Given the description of an element on the screen output the (x, y) to click on. 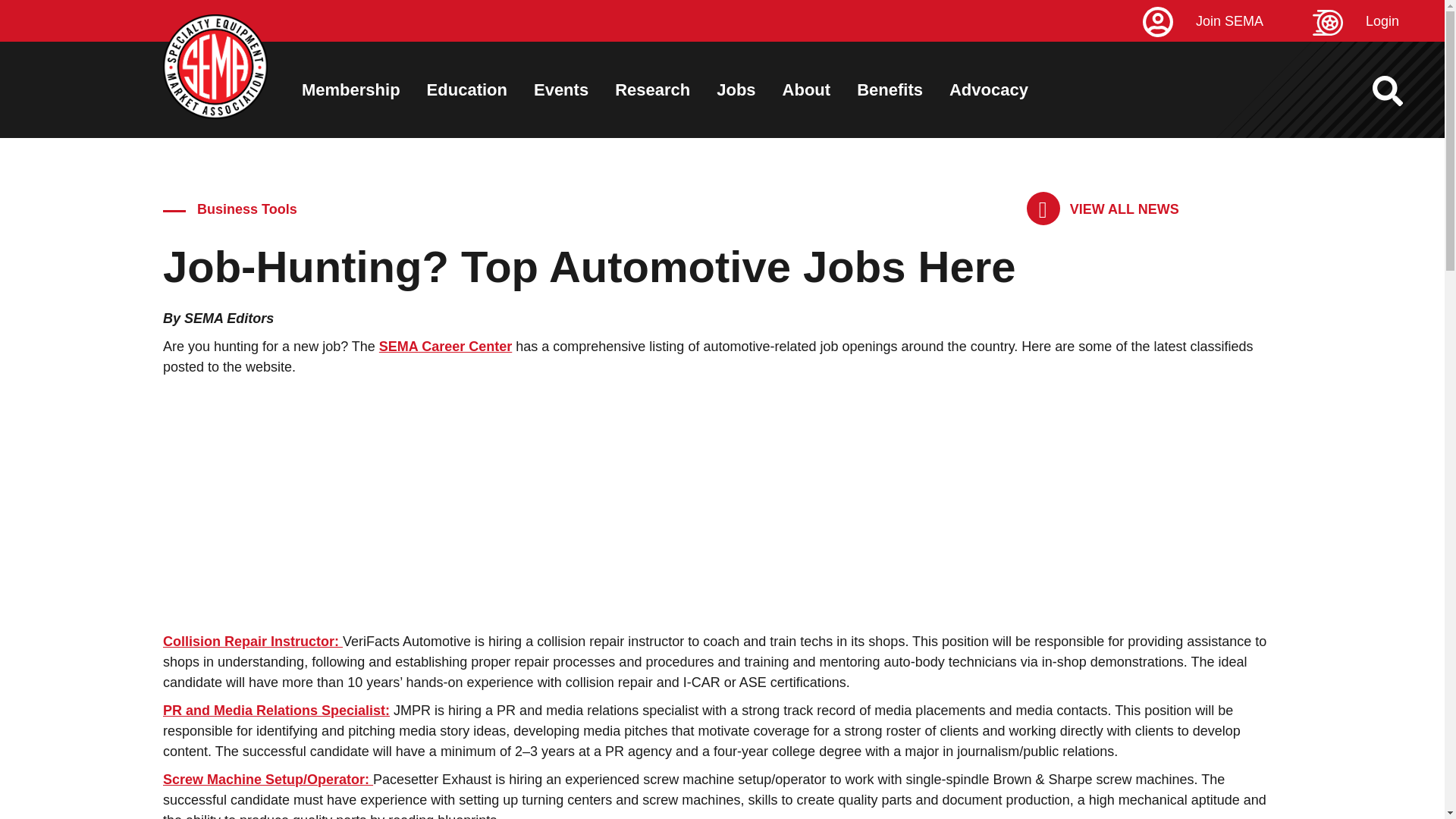
Join SEMA (1225, 20)
Advocacy (988, 89)
eNews archive (1102, 209)
SEMA Career Center (445, 346)
Membership (350, 89)
PR and Media Relations Specialist: (276, 710)
Login (1378, 20)
VIEW ALL NEWS (1102, 209)
Benefits (889, 89)
